Given the description of an element on the screen output the (x, y) to click on. 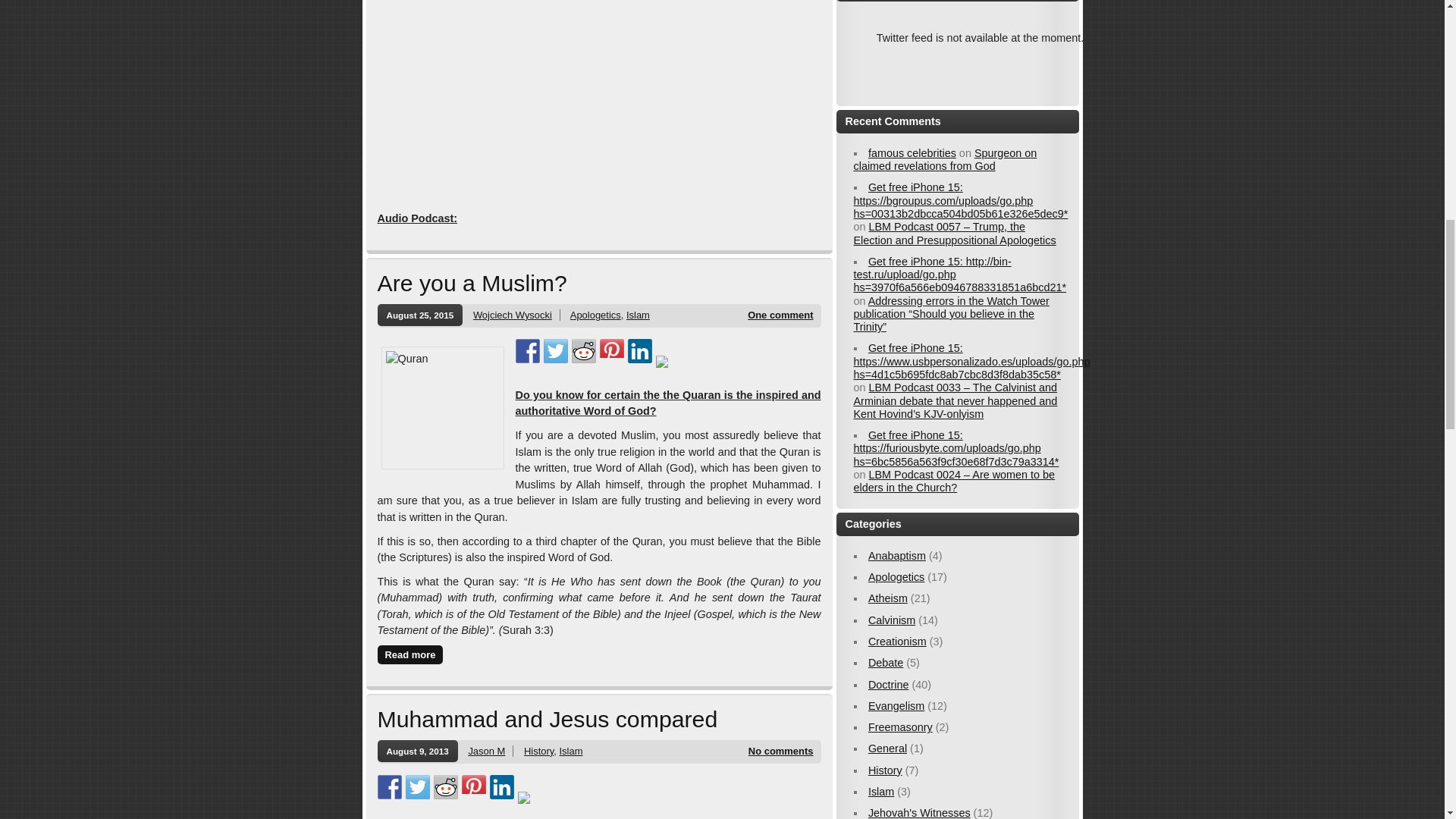
Apologetics (595, 315)
Islam (637, 315)
Wojciech Wysocki (512, 315)
August 9, 2013 (417, 751)
One comment (780, 315)
Share on Facebook (527, 351)
August 25, 2015 (420, 314)
Read more (410, 654)
Posts by Wojciech Wysocki (512, 315)
Muhammad and Jesus compared (547, 719)
